Given the description of an element on the screen output the (x, y) to click on. 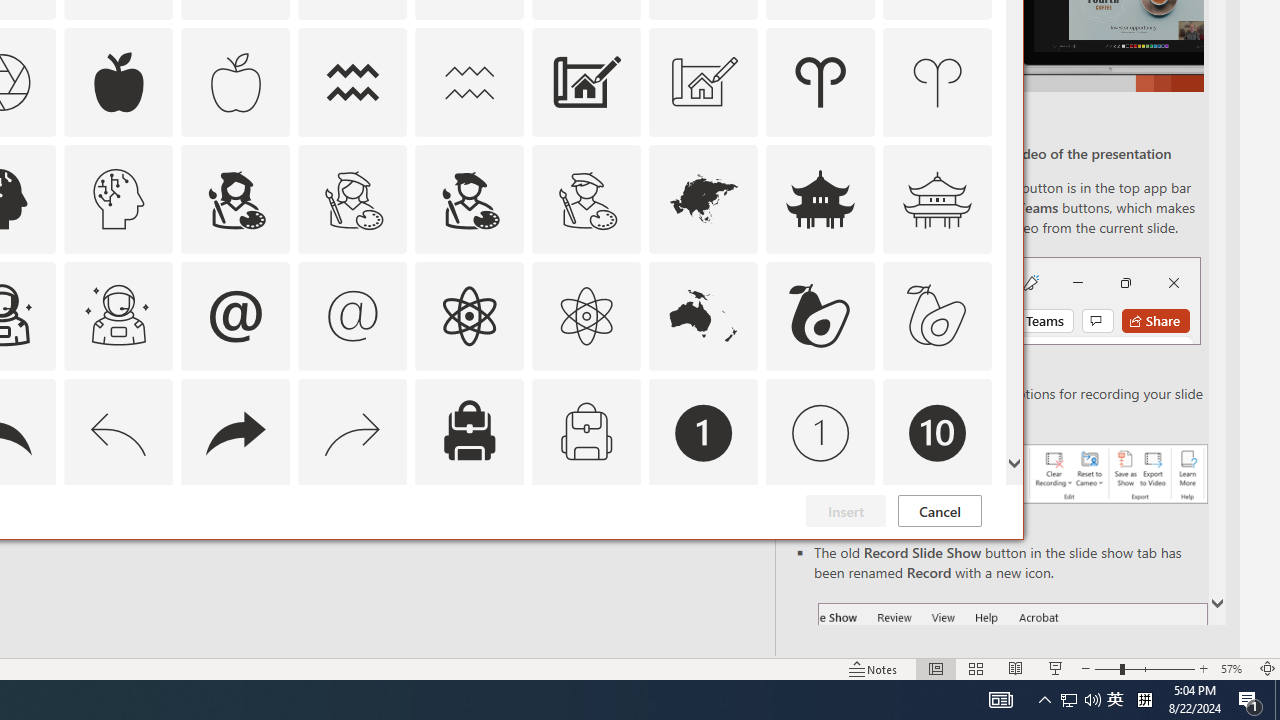
AutomationID: Icons_At_M (353, 316)
AutomationID: Icons_Backpack_M (586, 432)
